Given the description of an element on the screen output the (x, y) to click on. 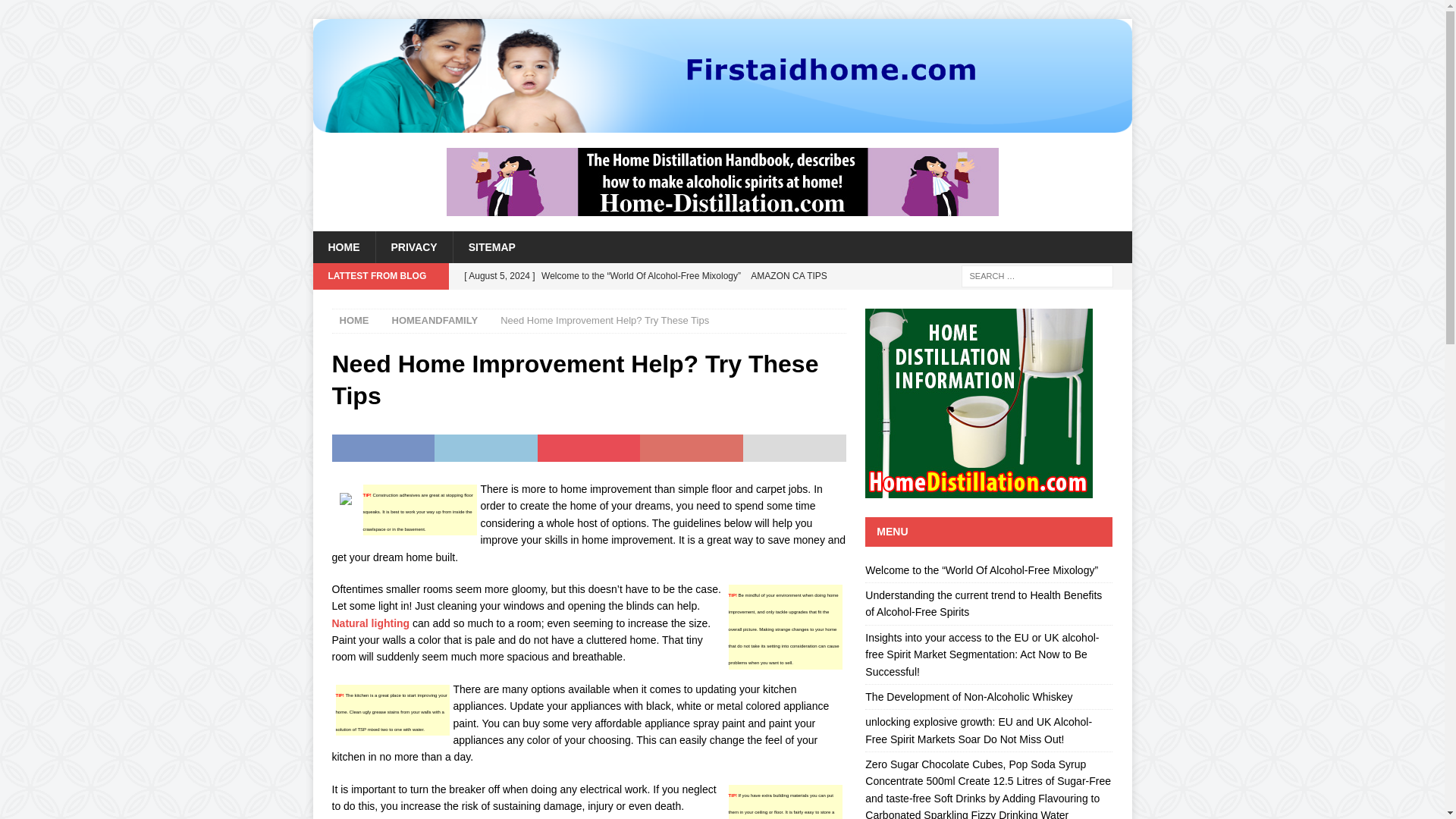
The Home Distillation Handbook (721, 182)
HOMEANDFAMILY (434, 319)
The Development of Non-Alcoholic Whiskey (967, 696)
HOME (343, 246)
HOME (354, 319)
Search (56, 11)
